Given the description of an element on the screen output the (x, y) to click on. 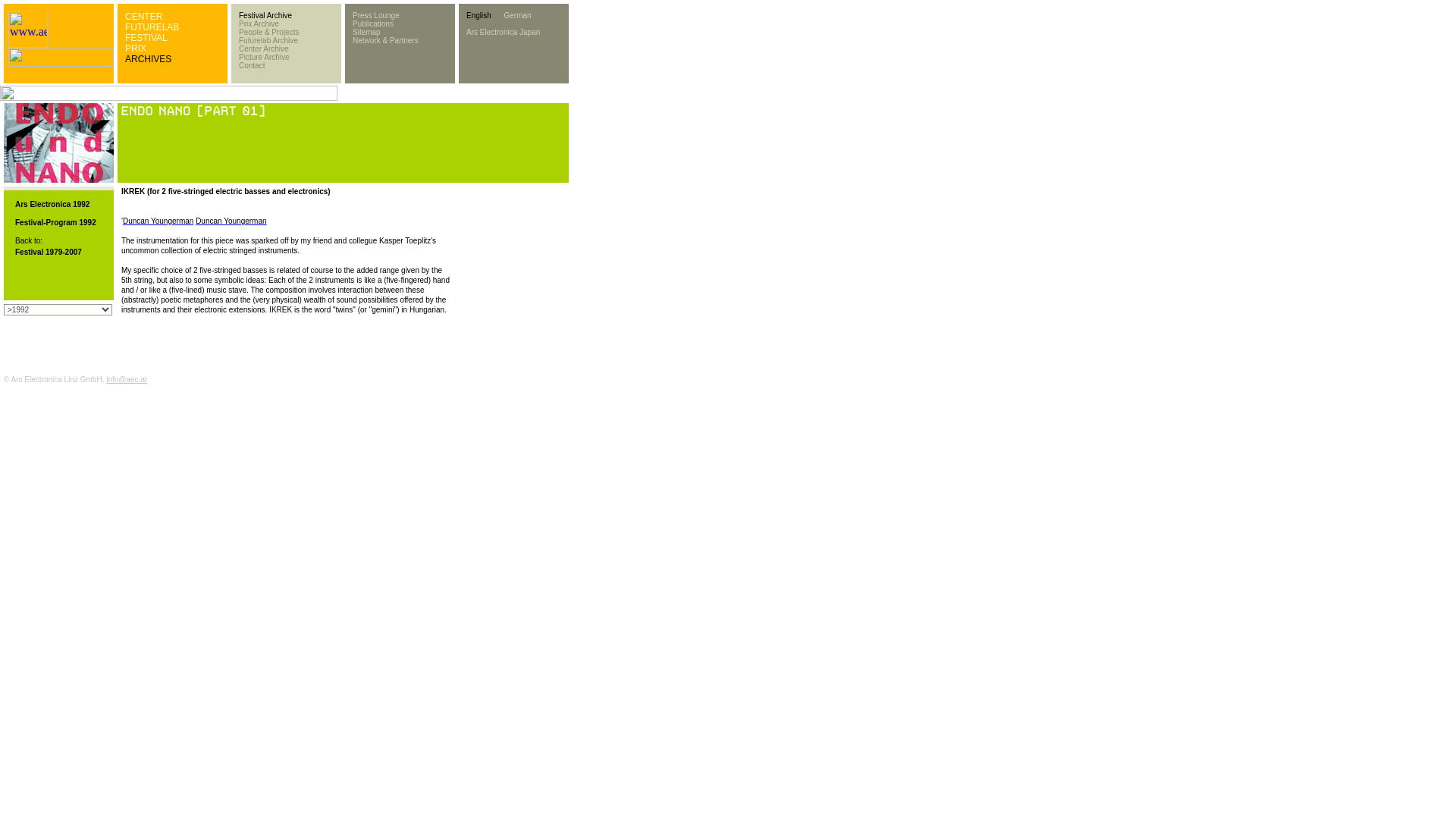
FESTIVAL (146, 37)
Center Archive (263, 49)
Ars Electronica Japan (502, 31)
Sitemap (366, 31)
Duncan Youngerman (157, 221)
Picture Archive (263, 57)
Prix Archive (258, 23)
German (517, 15)
Contact (251, 65)
CENTER (143, 16)
